Given the description of an element on the screen output the (x, y) to click on. 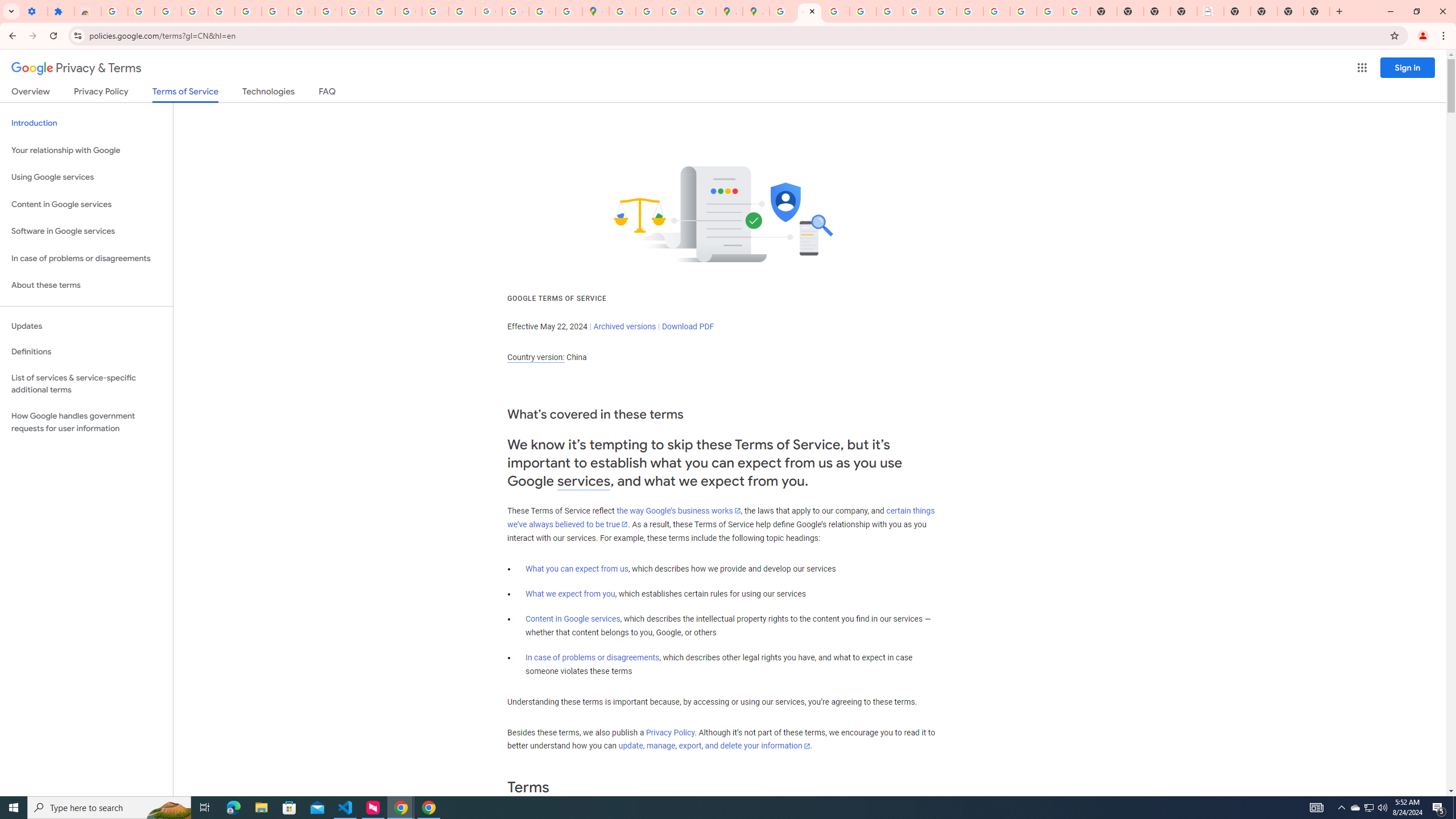
Updates (86, 325)
What we expect from you (570, 593)
YouTube (328, 11)
Extensions (61, 11)
